Given the description of an element on the screen output the (x, y) to click on. 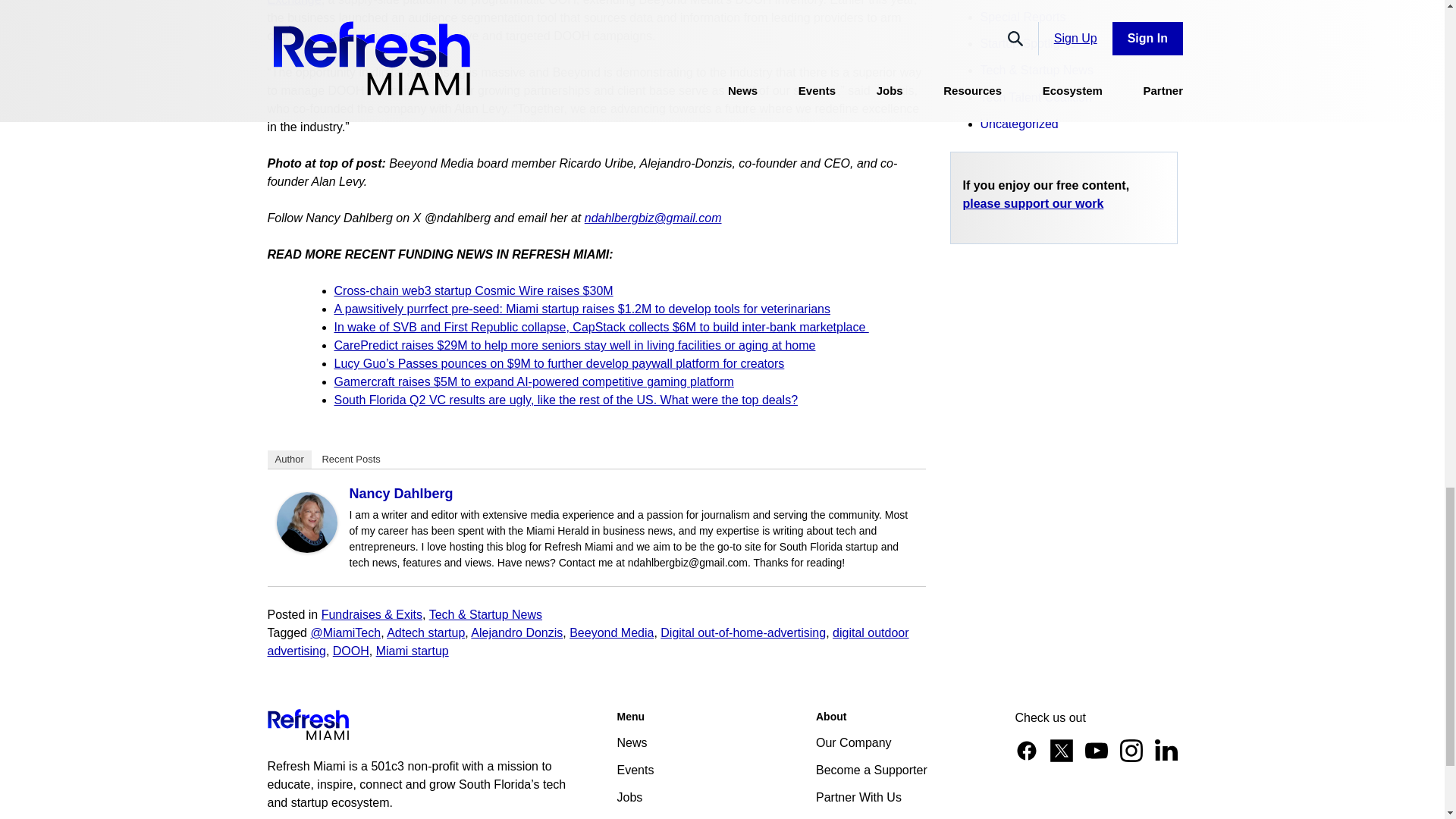
Nancy Dahlberg (306, 548)
Author (288, 459)
